Given the description of an element on the screen output the (x, y) to click on. 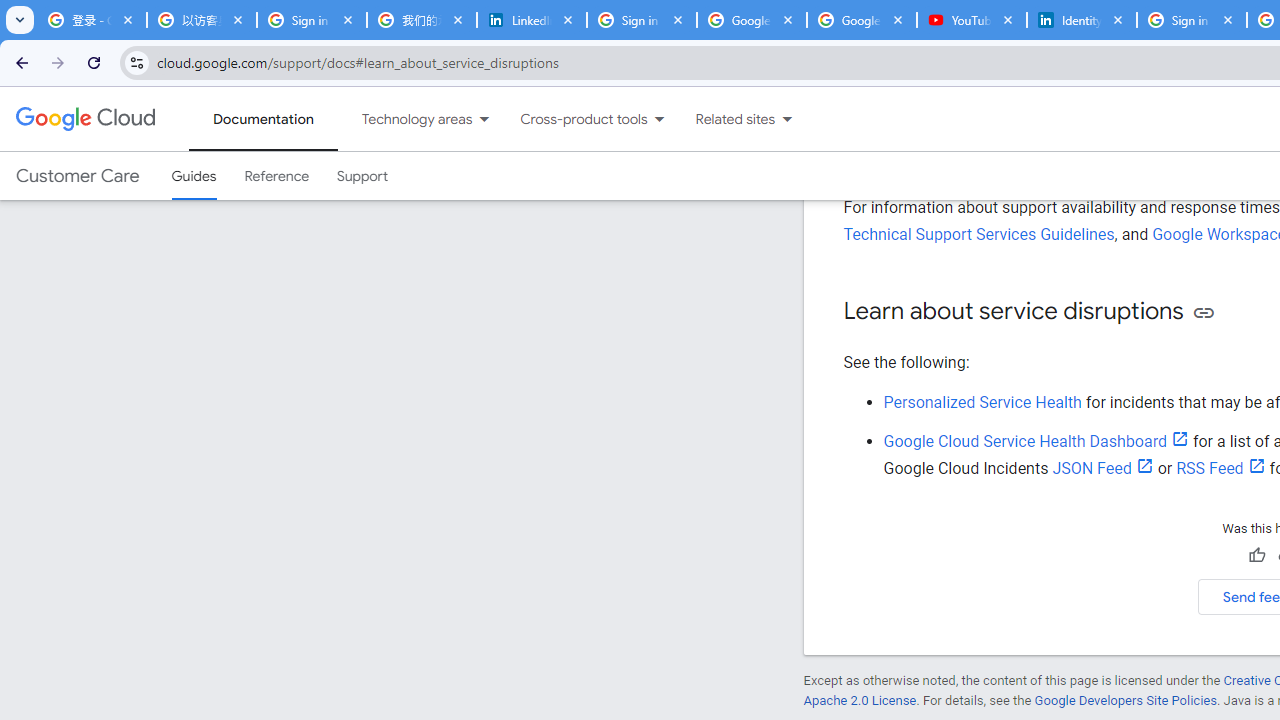
Copy link to this section: Learn about service disruptions (1202, 312)
Personalized Service Health (982, 402)
Google Cloud Service Health Dashboard (1036, 441)
LinkedIn Privacy Policy (532, 20)
Copy link to this section: Contacting technical support (1178, 77)
Technical Support Services Guidelines (978, 234)
Technology areas (404, 119)
